Given the description of an element on the screen output the (x, y) to click on. 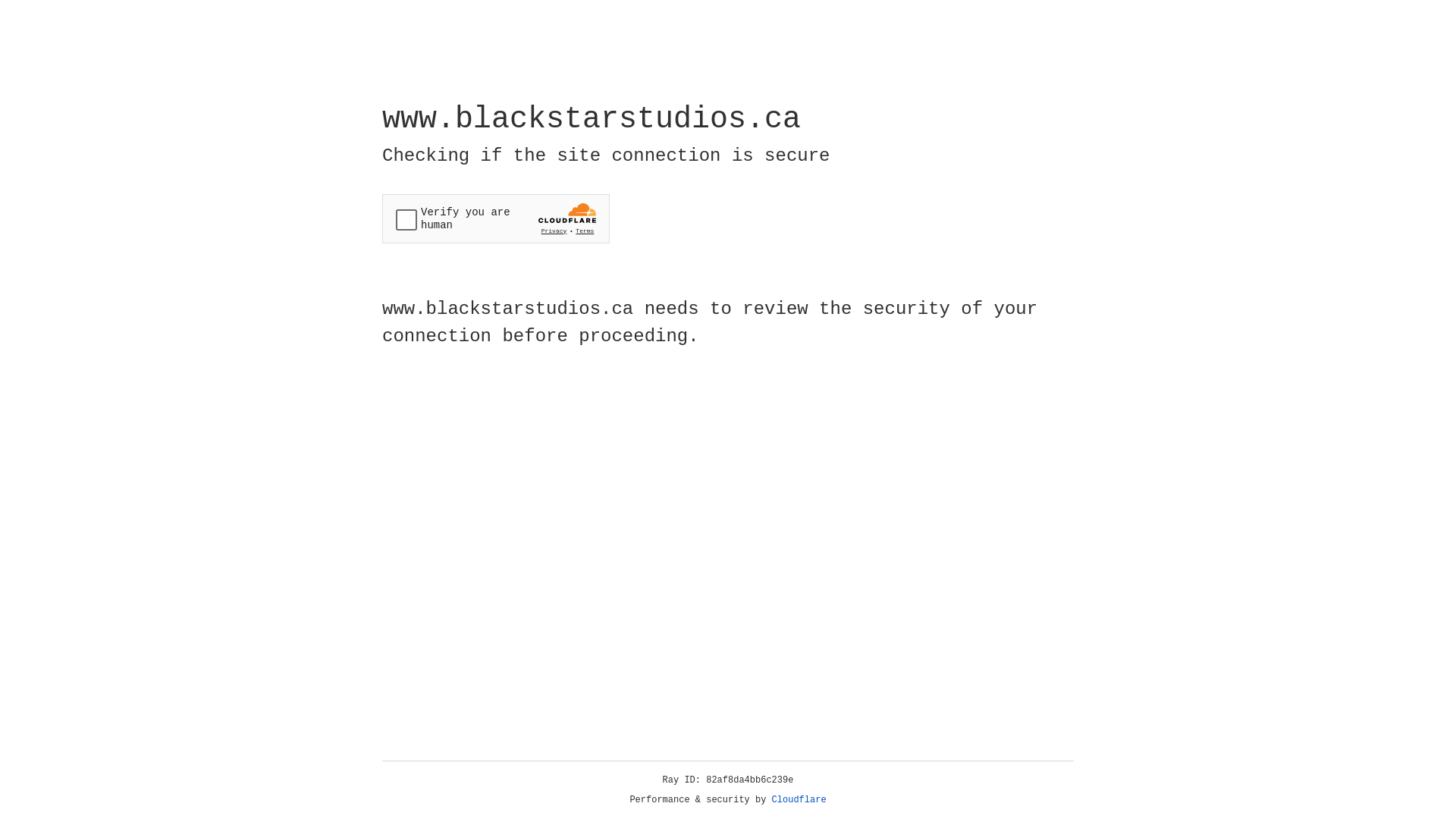
Cloudflare Element type: text (798, 799)
Widget containing a Cloudflare security challenge Element type: hover (495, 218)
